Given the description of an element on the screen output the (x, y) to click on. 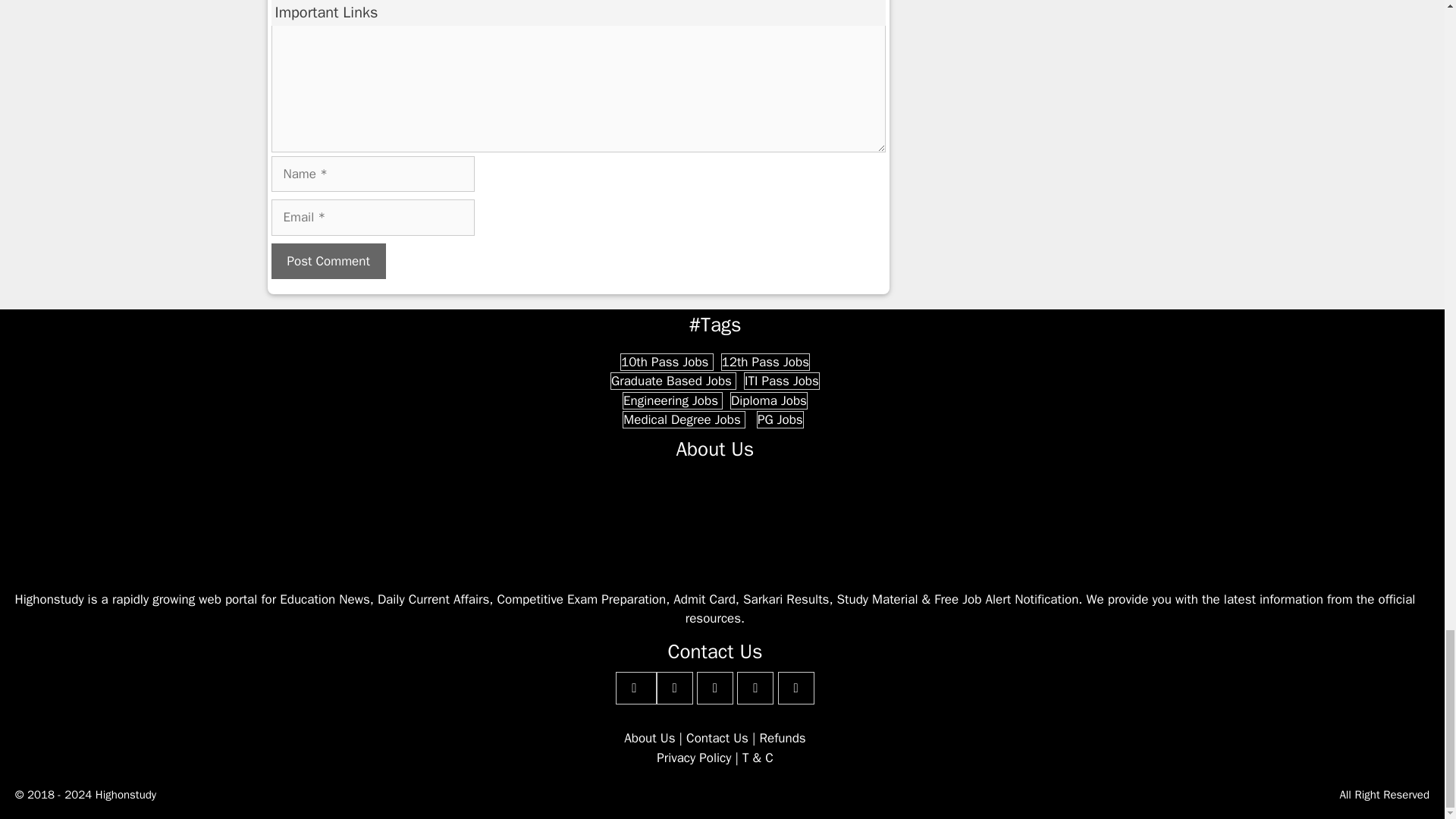
Post Comment (327, 261)
